Given the description of an element on the screen output the (x, y) to click on. 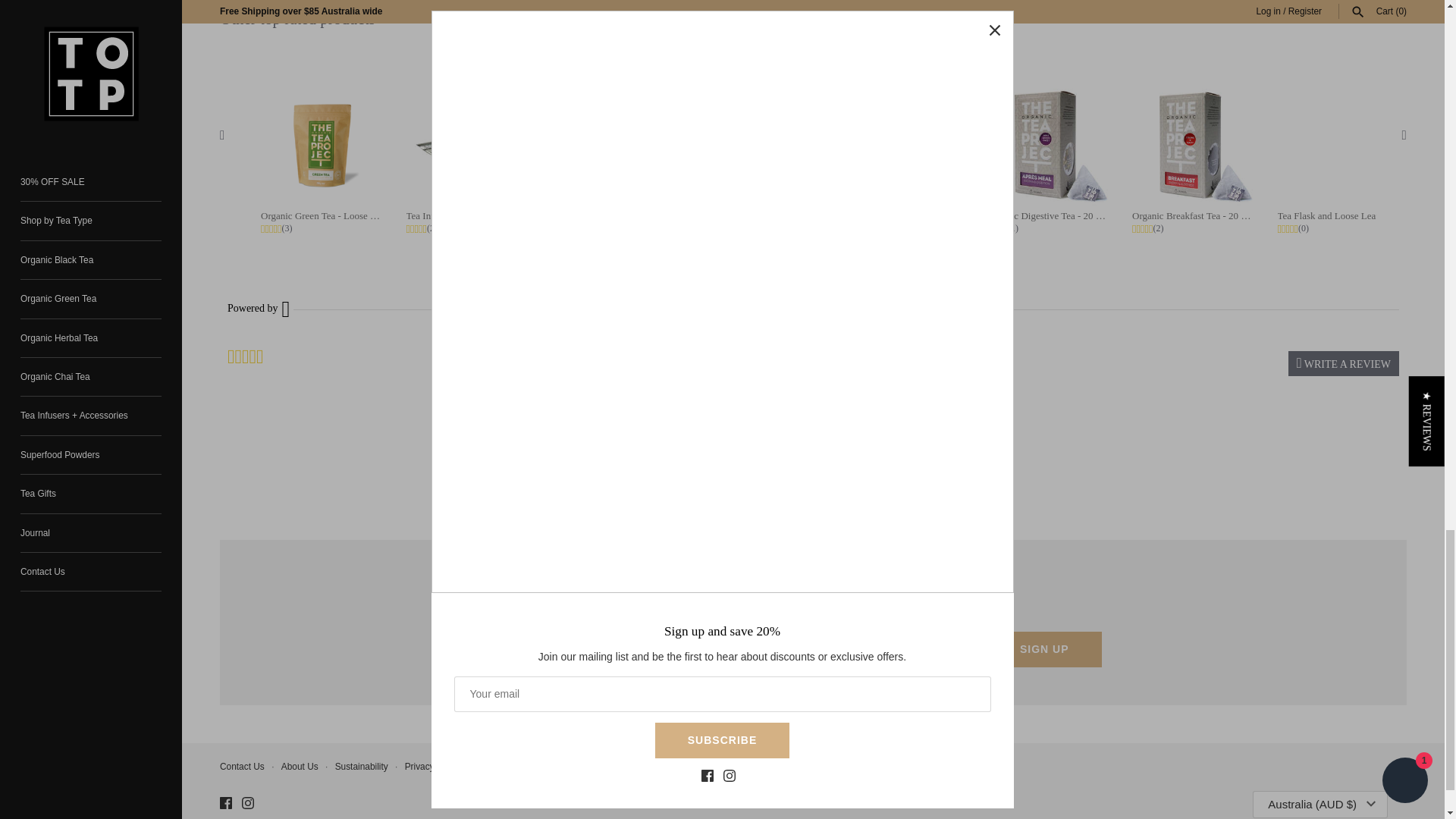
Instagram (247, 802)
Facebook (225, 802)
